Given the description of an element on the screen output the (x, y) to click on. 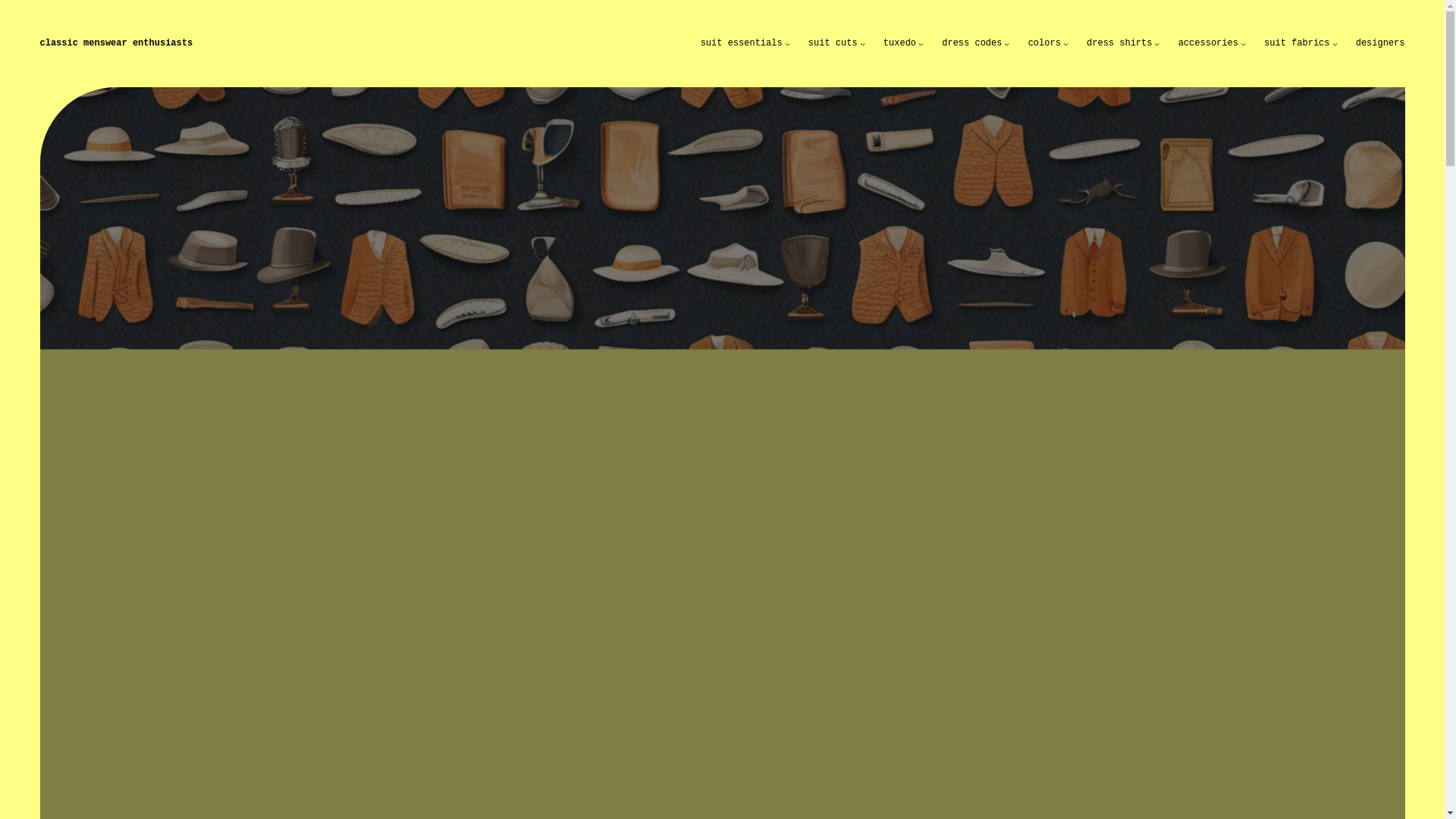
suit cuts (832, 43)
suit essentials (741, 43)
dress codes (971, 43)
colors (1044, 43)
tuxedo (899, 43)
classic menswear enthusiasts (115, 42)
